Given the description of an element on the screen output the (x, y) to click on. 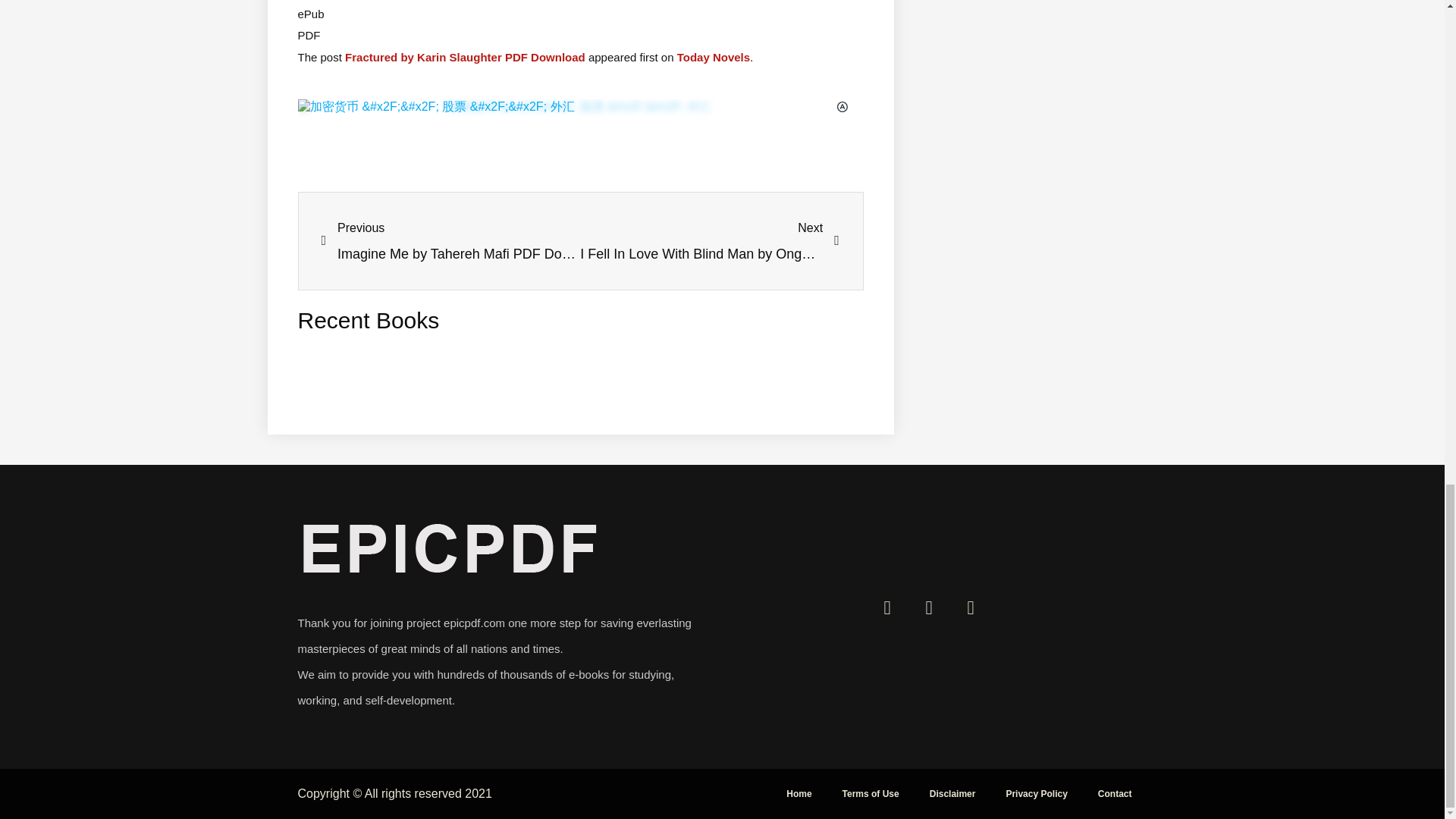
Terms of Use (870, 793)
Home (799, 793)
Disclaimer (450, 240)
Today Novels (952, 793)
Fractured by Karin Slaughter PDF Download (713, 56)
